Given the description of an element on the screen output the (x, y) to click on. 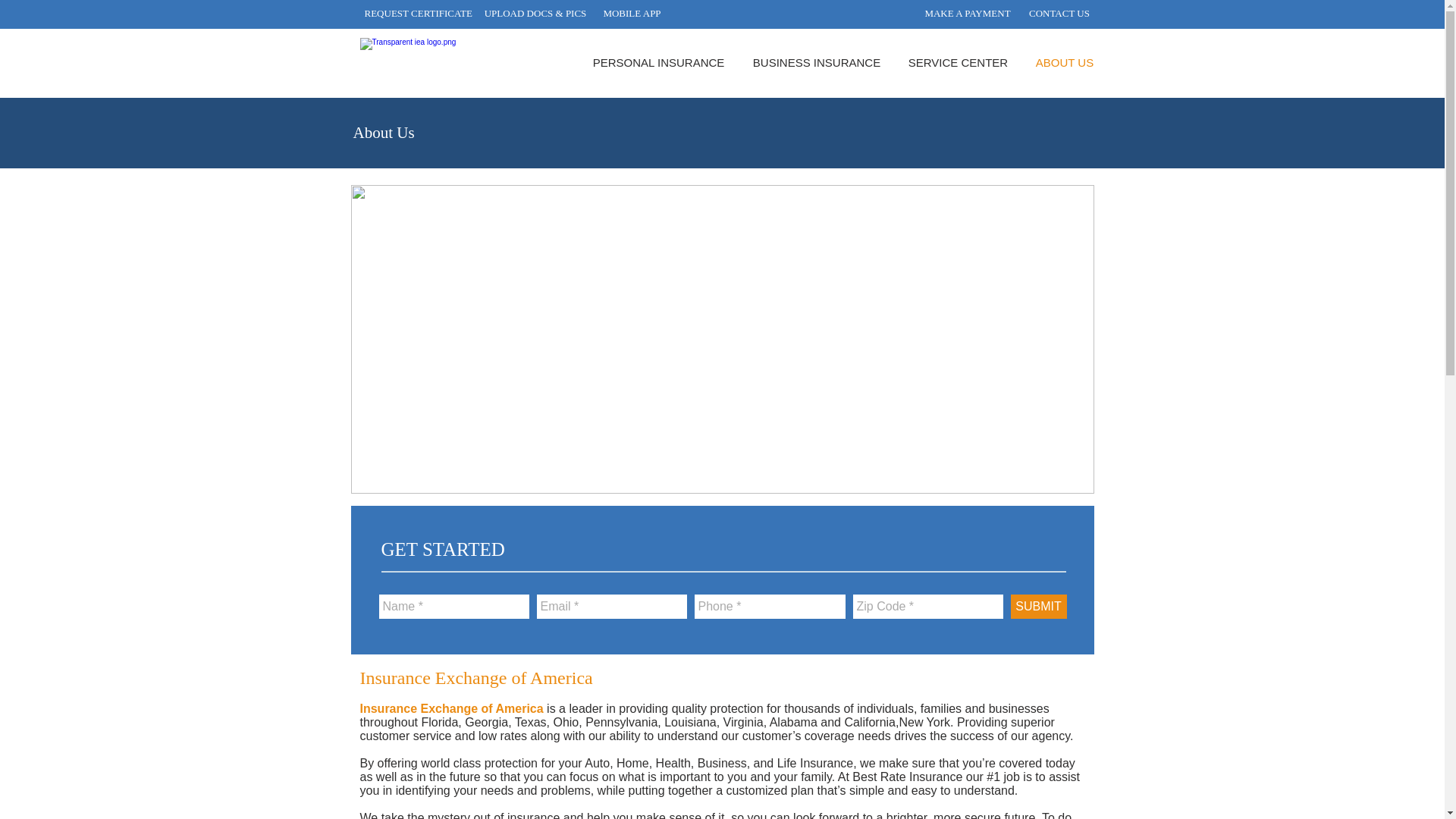
CONTACT US (1058, 13)
MAKE A PAYMENT (966, 13)
MOBILE APP (631, 13)
PERSONAL INSURANCE (658, 62)
REQUEST CERTIFICATE (417, 13)
BUSINESS INSURANCE (815, 62)
